Given the description of an element on the screen output the (x, y) to click on. 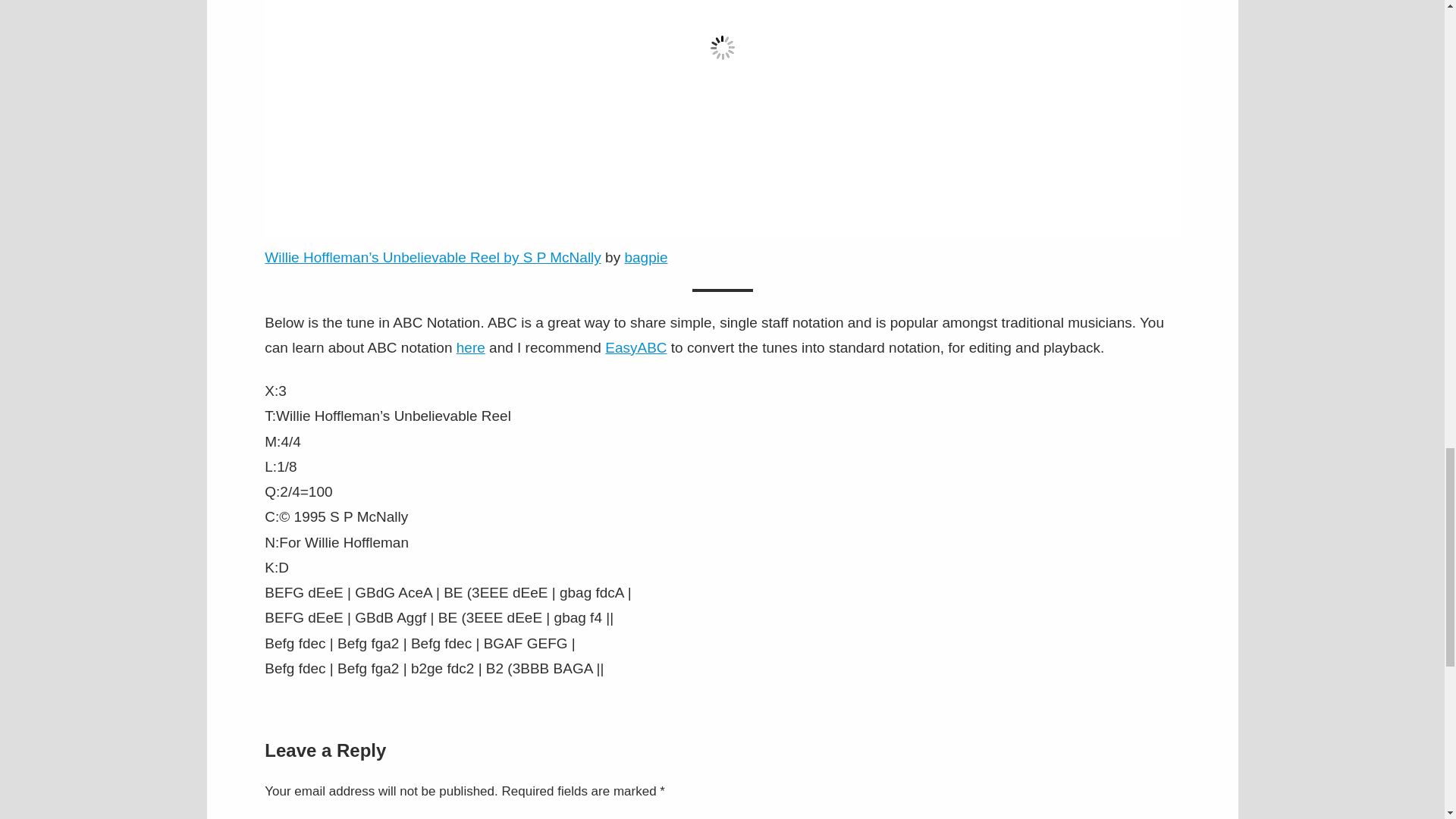
EasyABC (635, 347)
here (470, 347)
bagpie (645, 257)
